Given the description of an element on the screen output the (x, y) to click on. 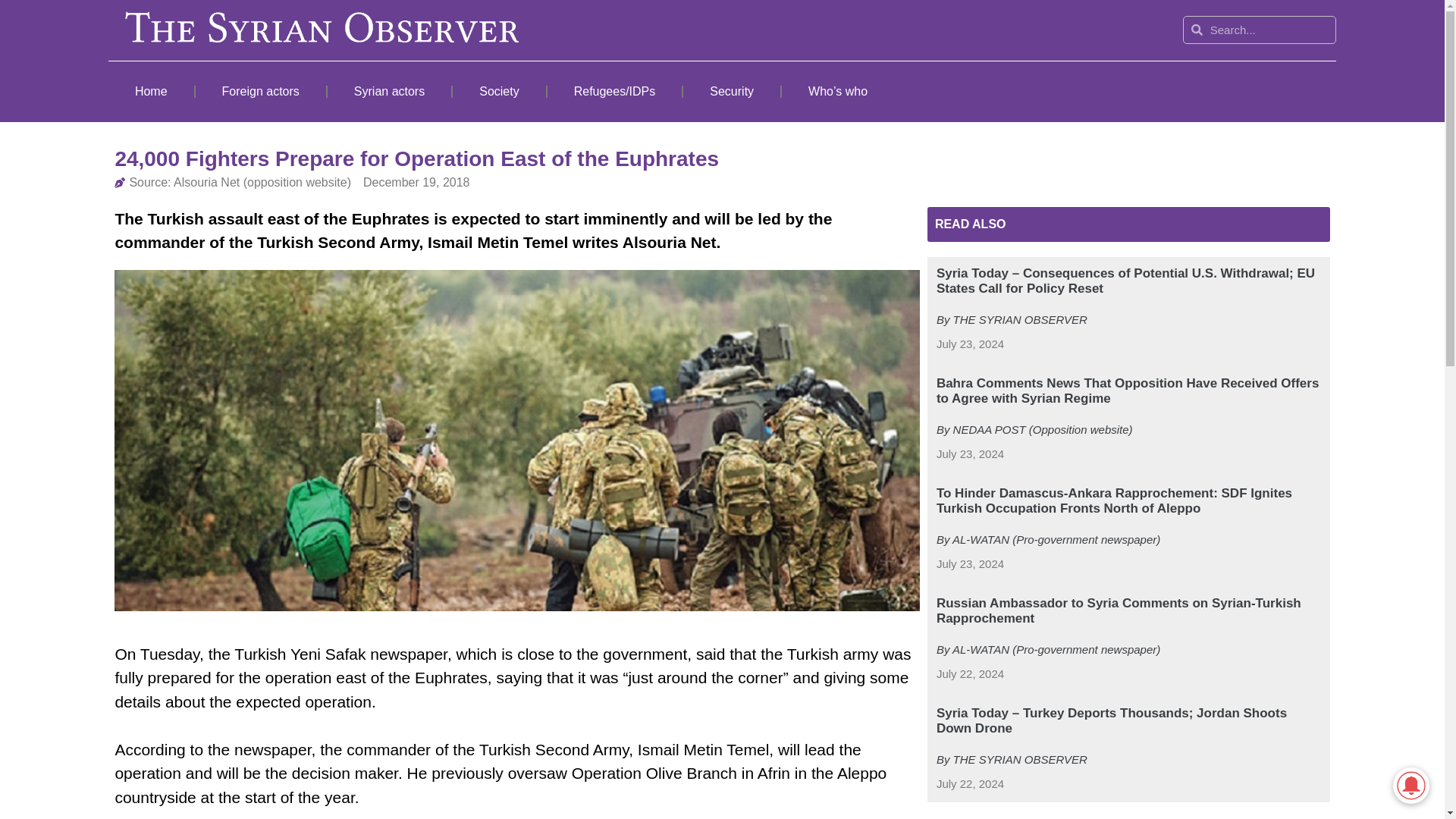
July 23, 2024 (970, 454)
Home (150, 91)
Syrian actors (389, 91)
July 23, 2024 (970, 343)
Society (498, 91)
Security (731, 91)
Foreign actors (260, 91)
July 23, 2024 (970, 564)
July 22, 2024 (970, 674)
July 22, 2024 (970, 784)
